Given the description of an element on the screen output the (x, y) to click on. 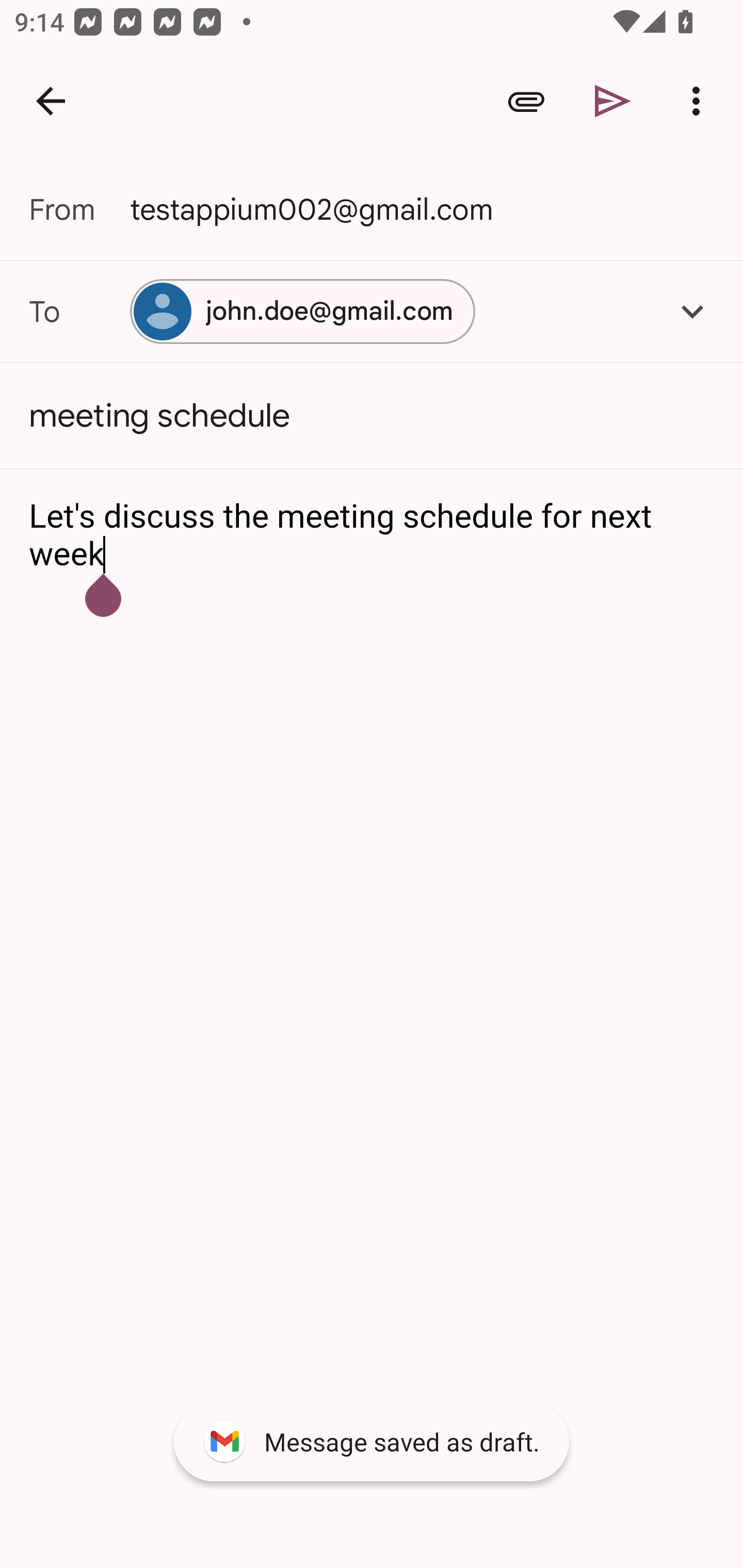
Navigate up (50, 101)
Attach file (525, 101)
Send (612, 101)
More options (699, 101)
From (79, 209)
Add Cc/Bcc (692, 311)
meeting schedule (371, 415)
Let's discuss the meeting schedule for next week (372, 535)
